Given the description of an element on the screen output the (x, y) to click on. 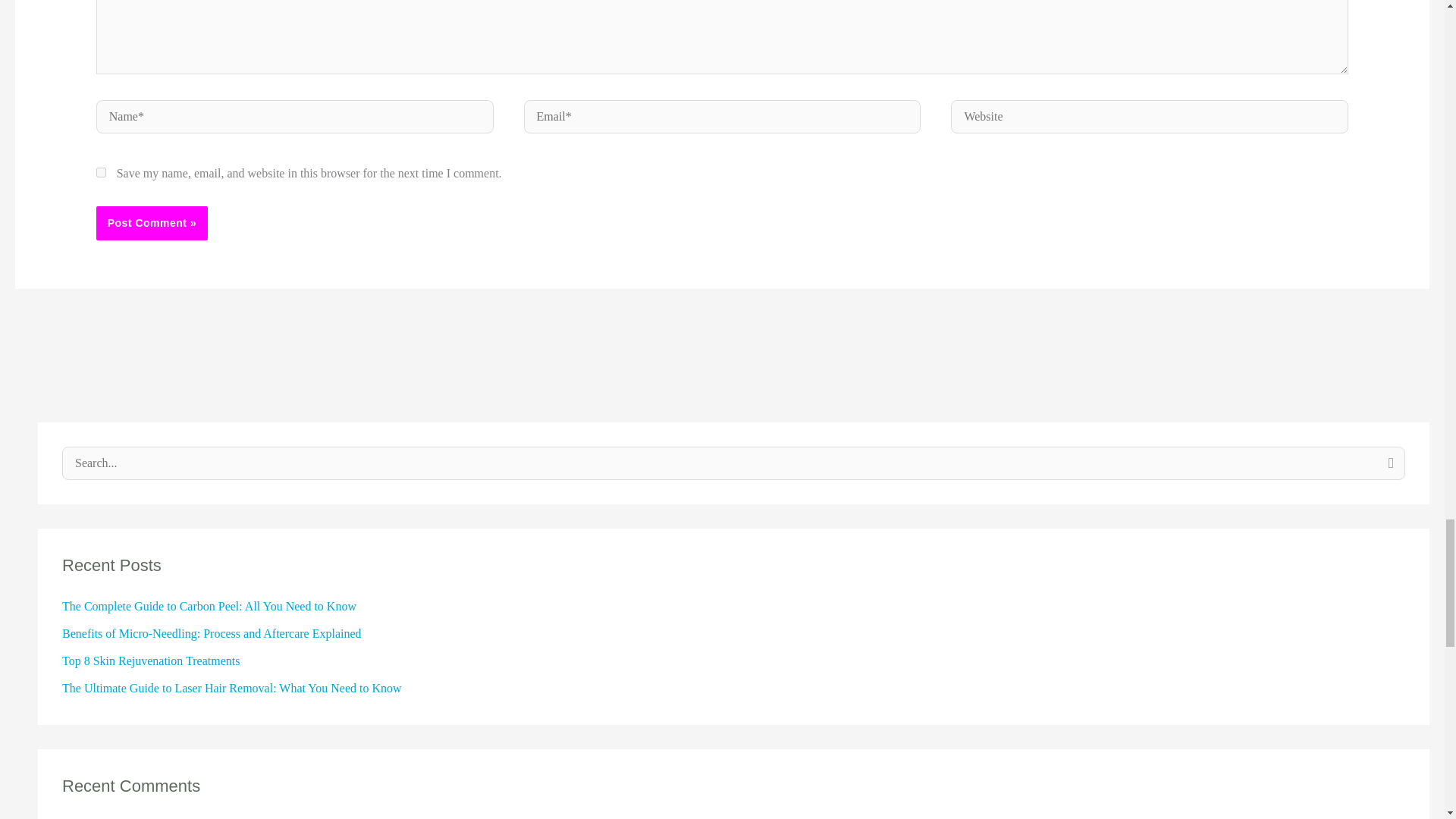
Benefits of Micro-Needling: Process and Aftercare Explained (211, 633)
The Complete Guide to Carbon Peel: All You Need to Know (209, 605)
Top 8 Skin Rejuvenation Treatments (151, 660)
yes (101, 172)
